Given the description of an element on the screen output the (x, y) to click on. 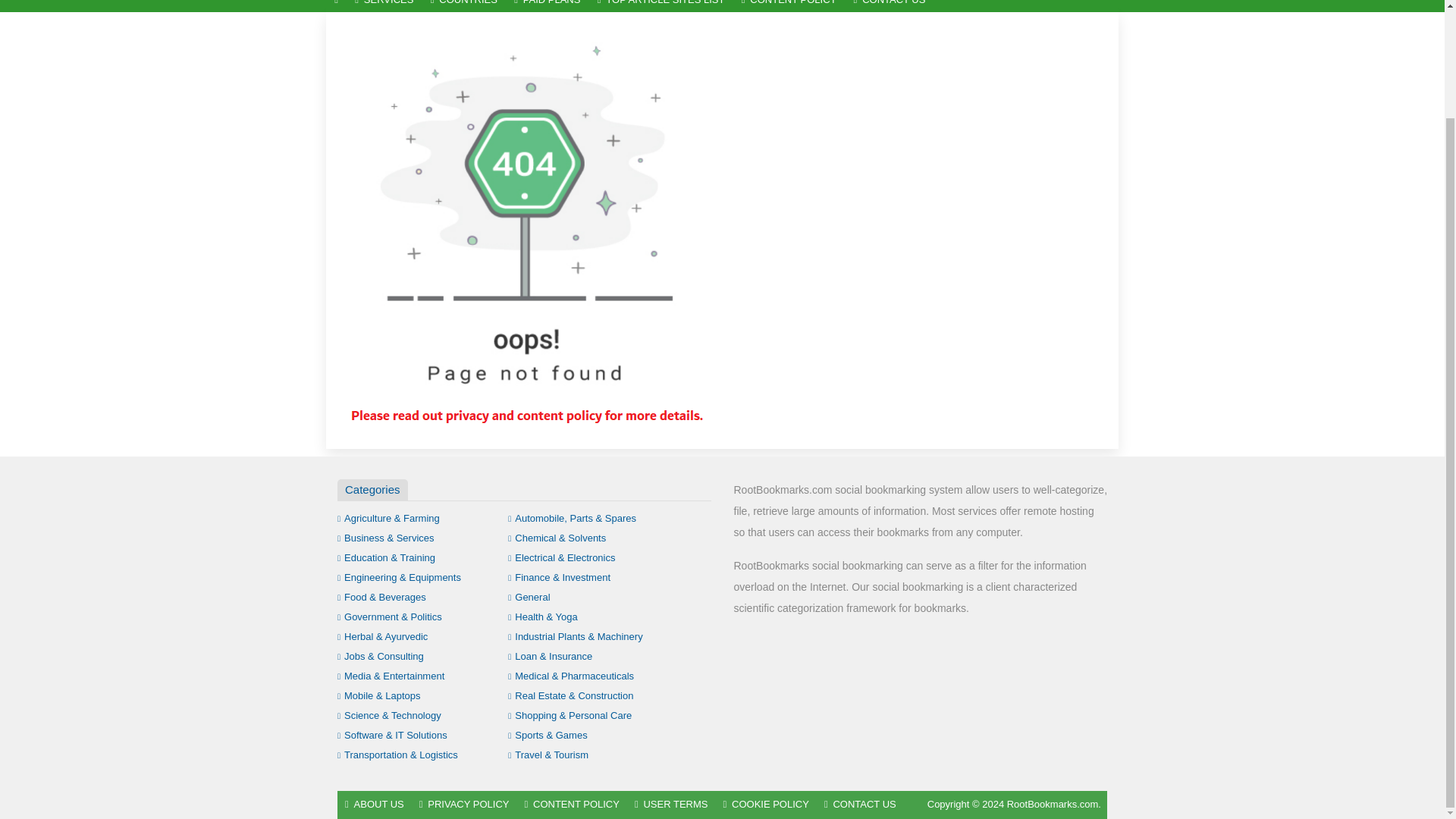
HOME (336, 6)
TOP ARTICLE SITES LIST (661, 6)
CONTACT US (888, 6)
General (529, 596)
SERVICES (384, 6)
CONTENT POLICY (789, 6)
PAID PLANS (547, 6)
COUNTRIES (463, 6)
